Given the description of an element on the screen output the (x, y) to click on. 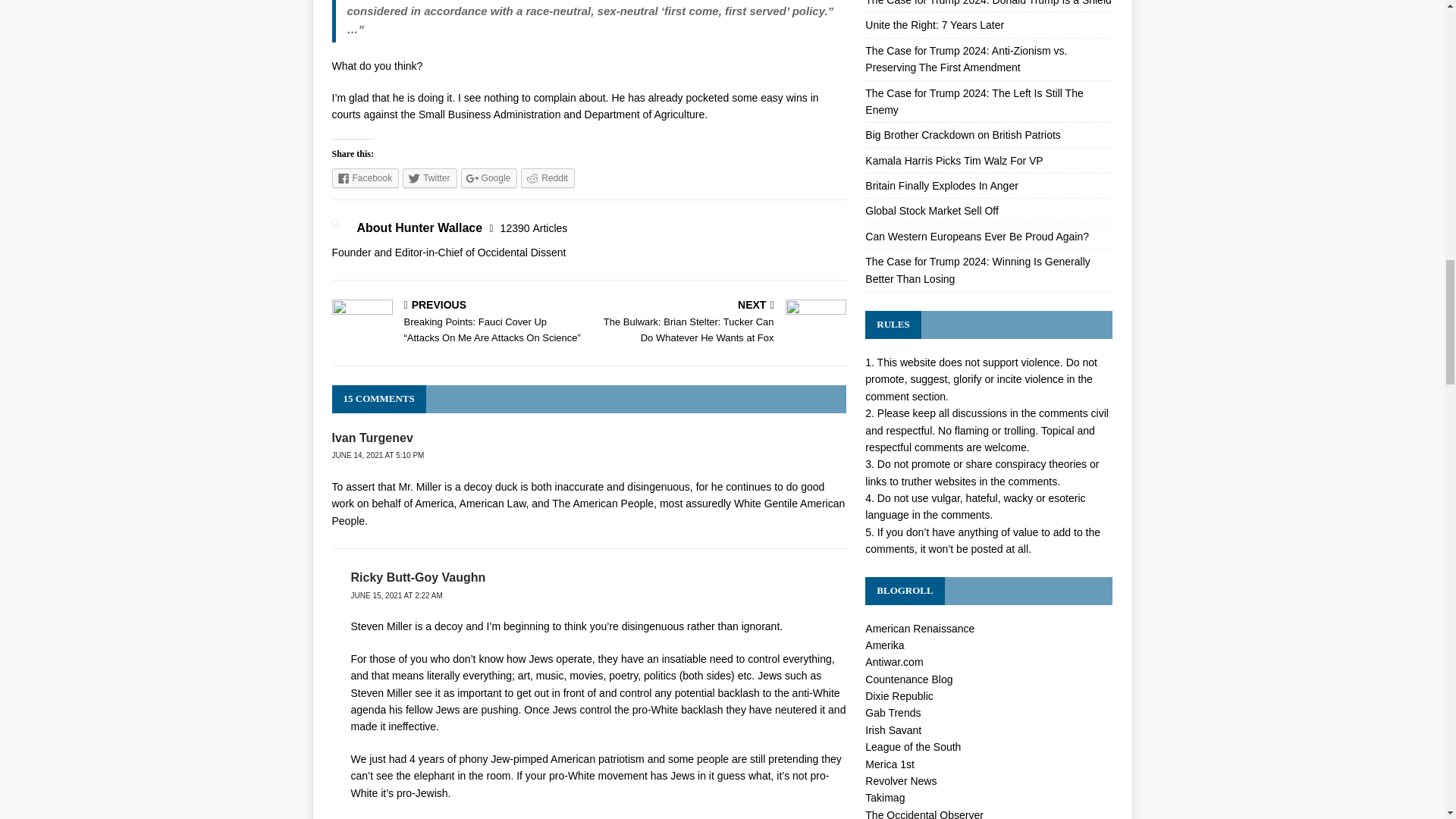
Facebook (364, 178)
Click to share on Twitter (430, 178)
More articles written by Hunter Wallace' (533, 227)
Click to share on Reddit (548, 178)
Click to share on Facebook (364, 178)
